Given the description of an element on the screen output the (x, y) to click on. 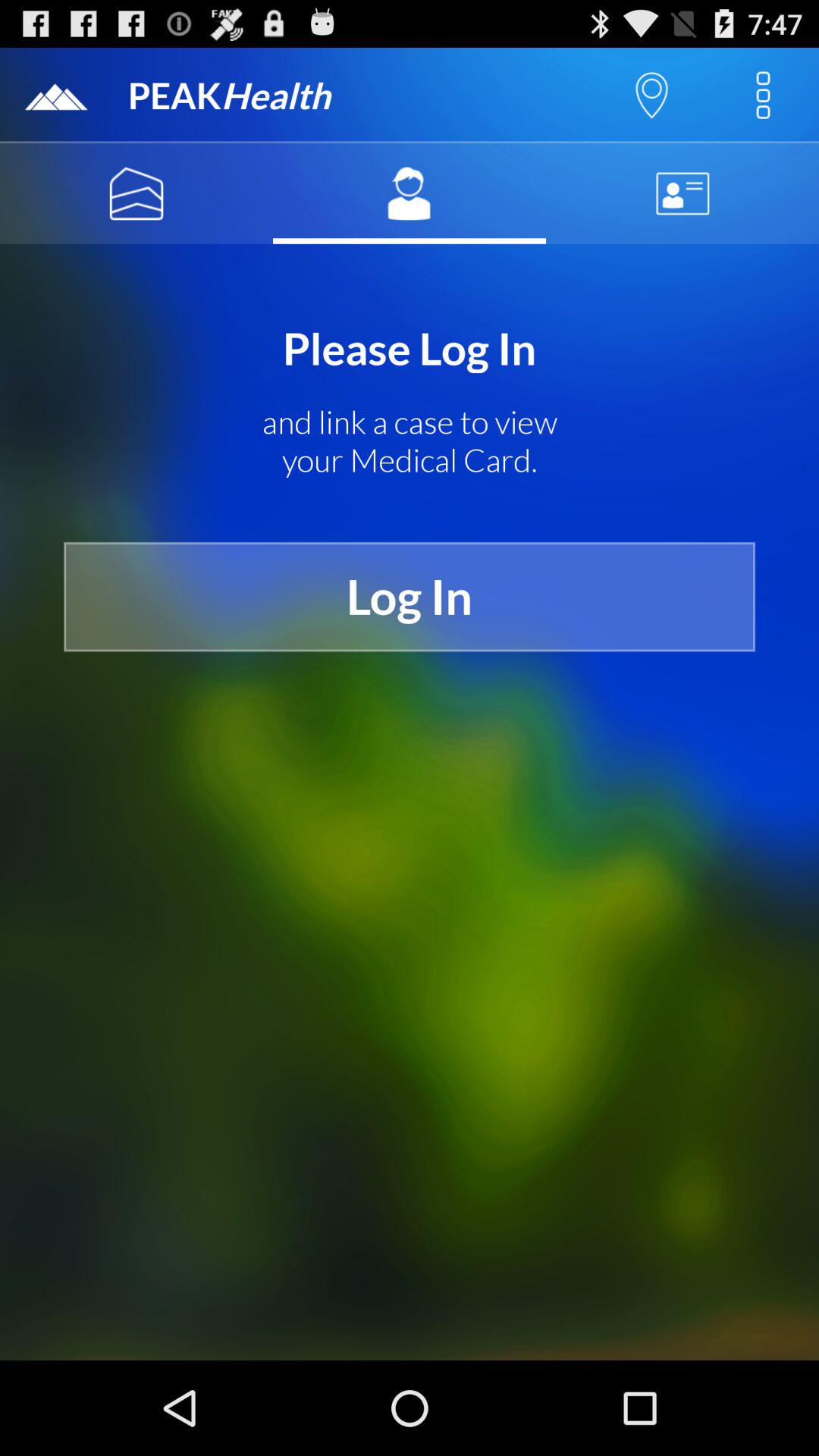
click icon below the peakhealth (136, 193)
